Given the description of an element on the screen output the (x, y) to click on. 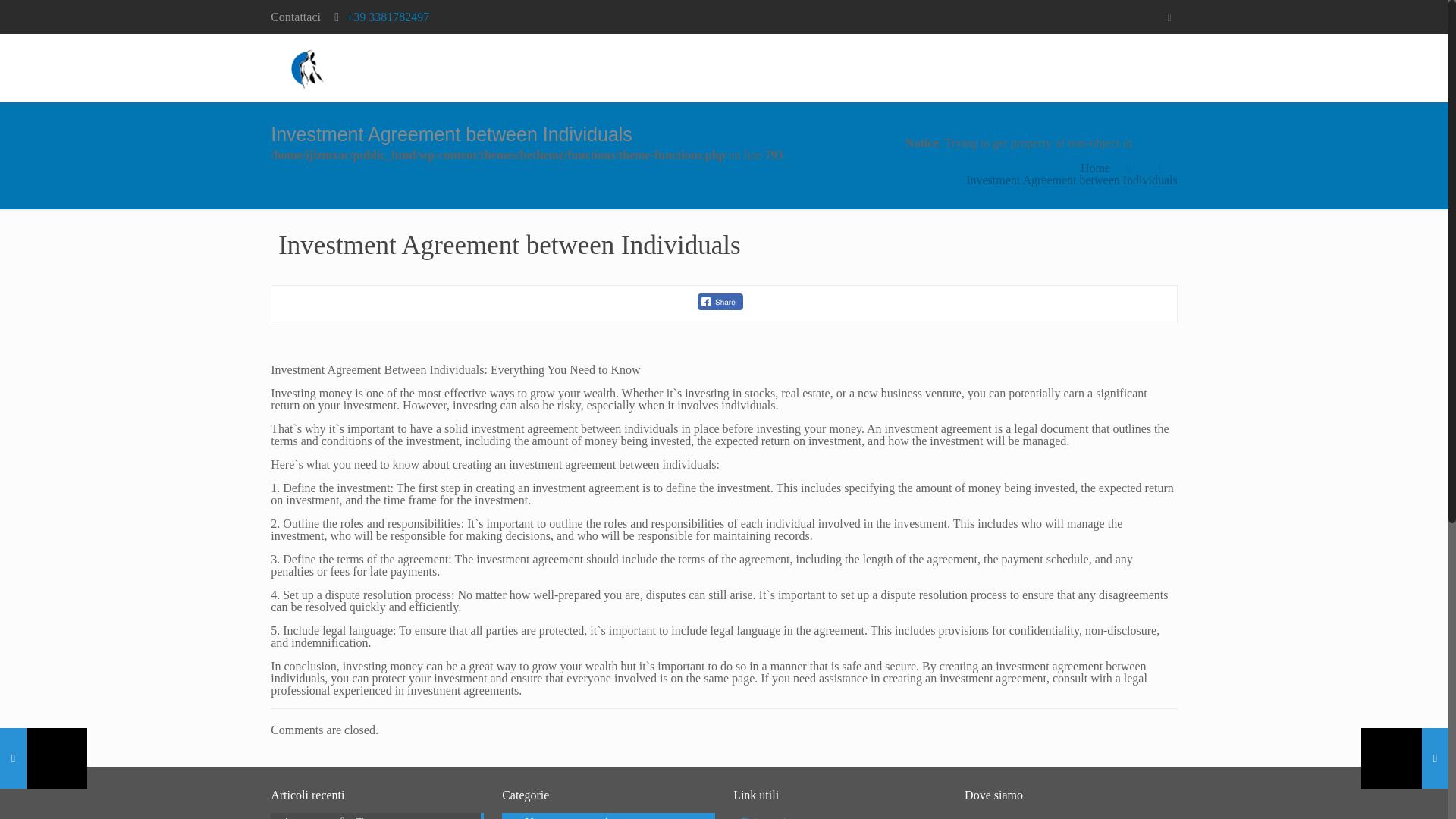
Home (1094, 167)
Facebook (1169, 17)
Fisioterapia (765, 817)
Agreement for Teams (376, 817)
